Given the description of an element on the screen output the (x, y) to click on. 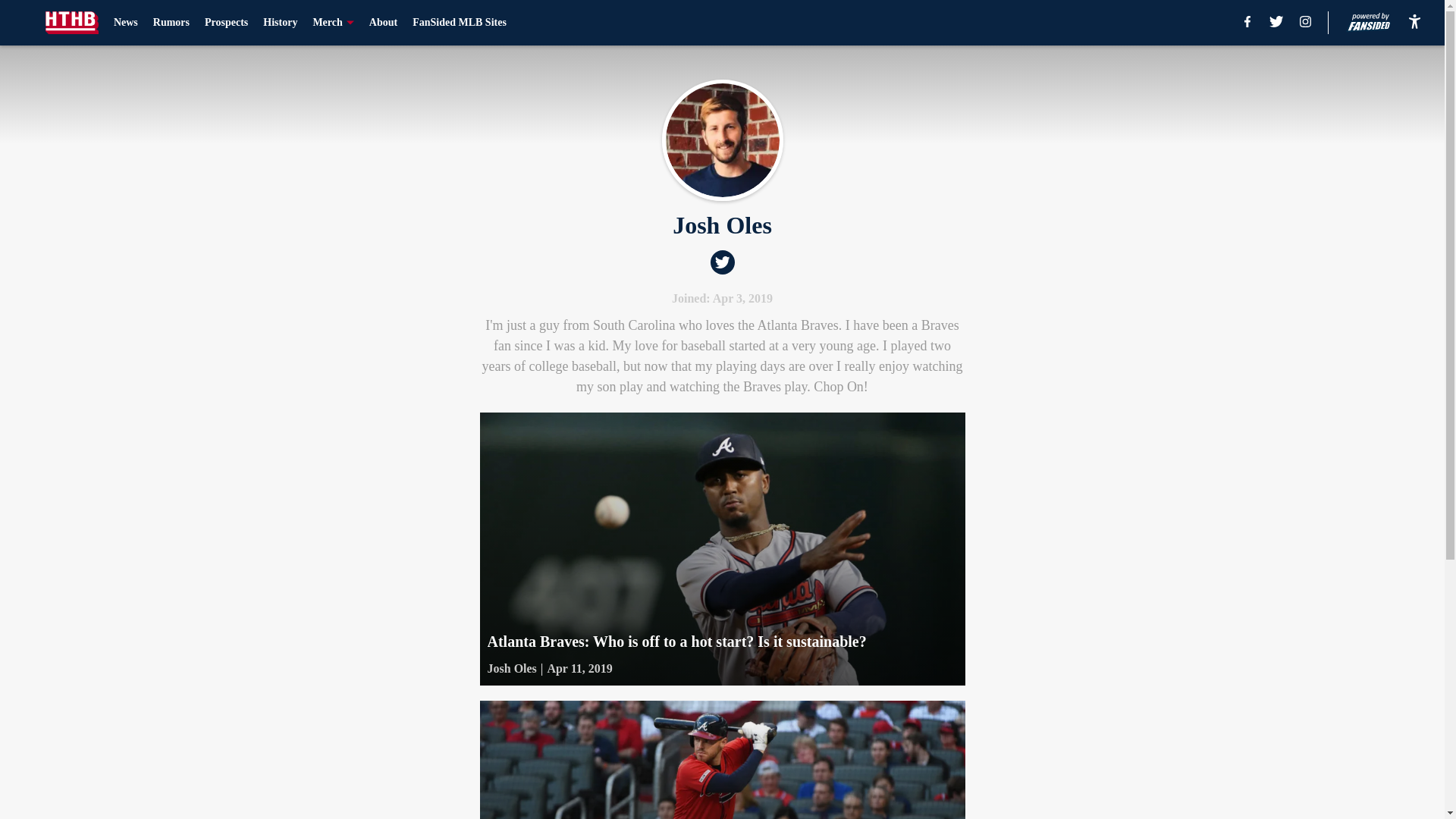
Josh Oles (510, 669)
About (383, 22)
News (125, 22)
History (280, 22)
FanSided MLB Sites (459, 22)
joles (721, 140)
Rumors (170, 22)
Prospects (226, 22)
